Given the description of an element on the screen output the (x, y) to click on. 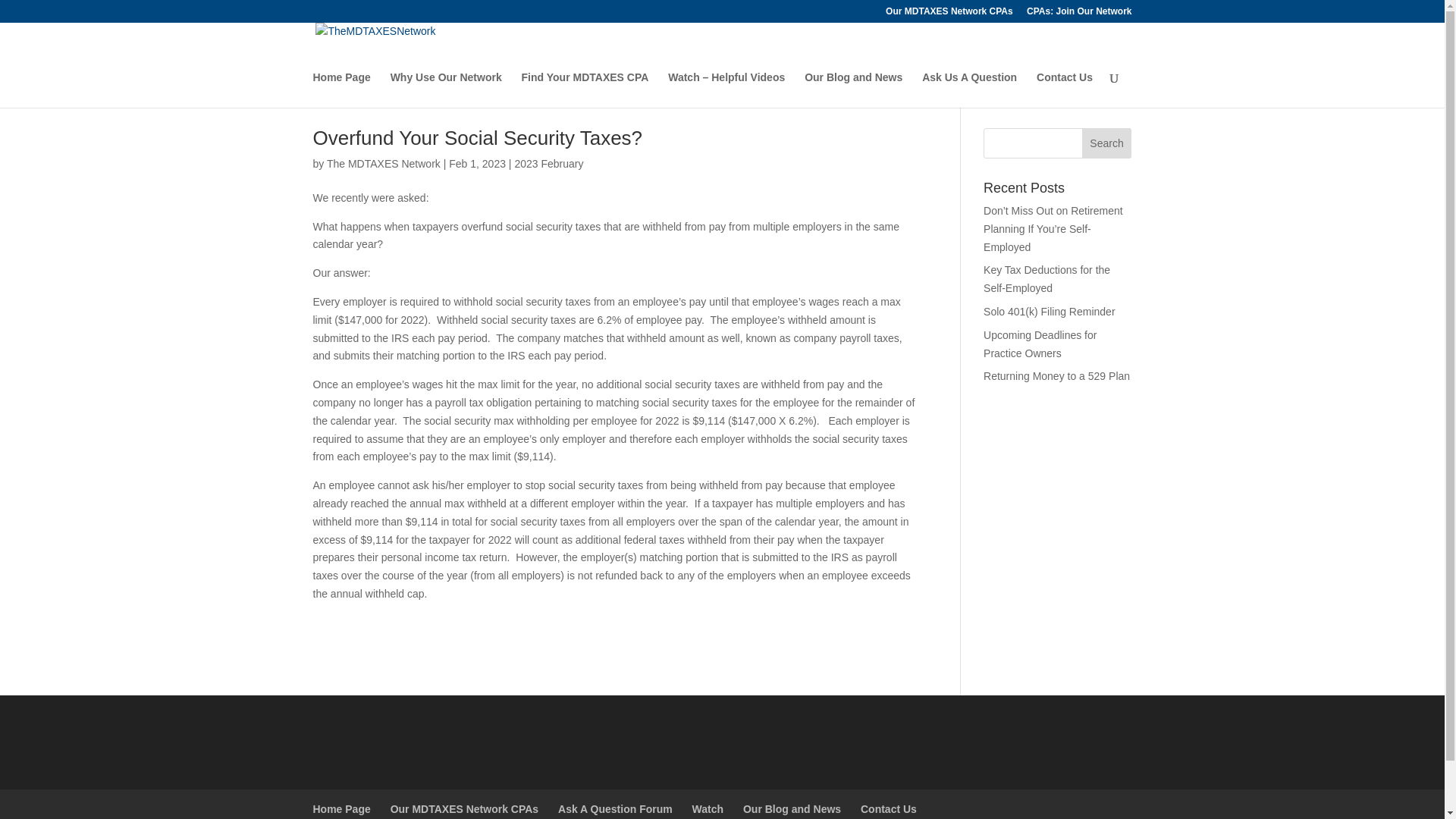
Search (1106, 142)
Returning Money to a 529 Plan (1056, 376)
Contact Us (888, 808)
Contact Us (1064, 89)
Home Page (341, 808)
2023 February (548, 163)
Find Your MDTAXES CPA (585, 89)
Ask A Question Forum (614, 808)
Our Blog and News (853, 89)
Watch (708, 808)
CPAs: Join Our Network (1078, 14)
Overfund Your Social Security Taxes? (477, 137)
Why Use Our Network (446, 89)
Home Page (341, 89)
Key Tax Deductions for the Self-Employed (1046, 278)
